Given the description of an element on the screen output the (x, y) to click on. 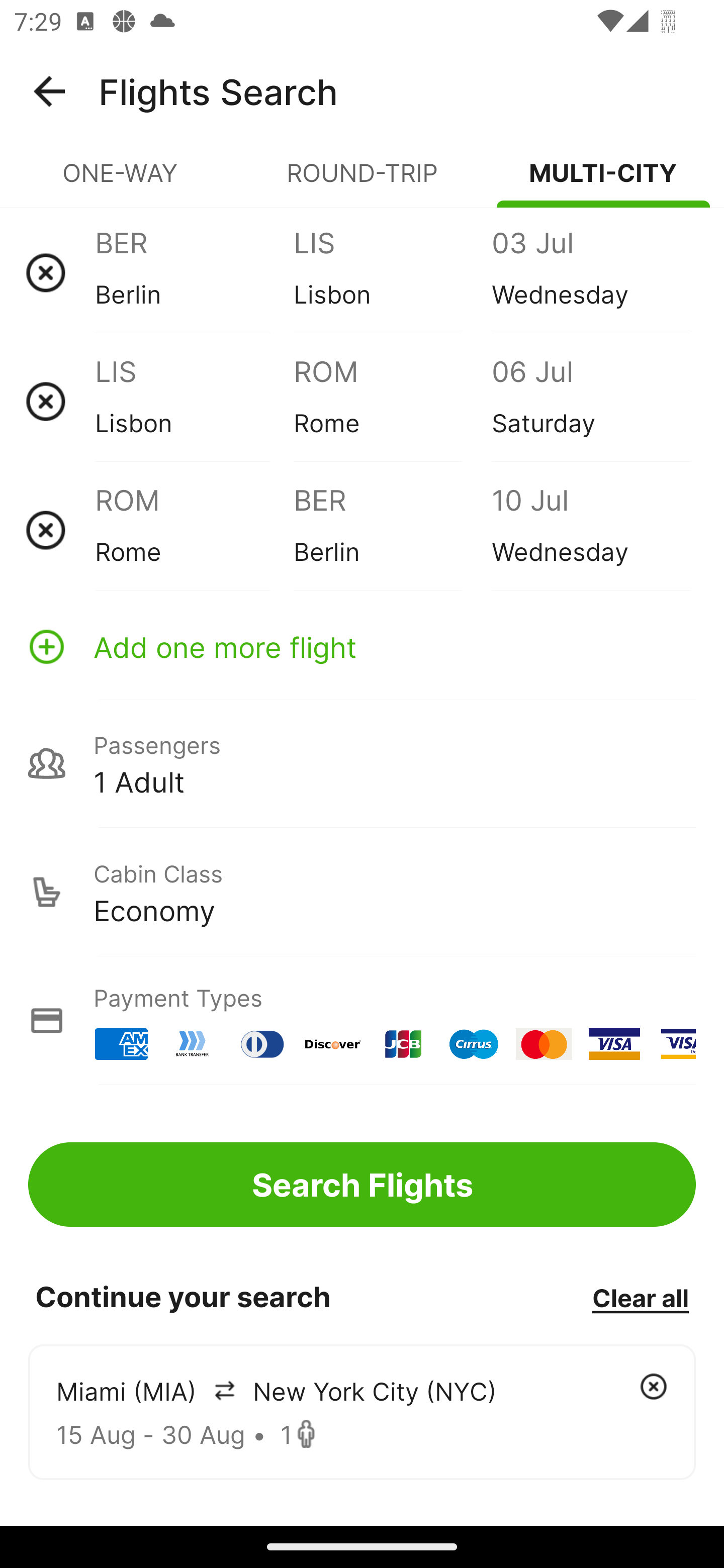
ONE-WAY (120, 180)
ROUND-TRIP (361, 180)
MULTI-CITY (603, 180)
BER Berlin (193, 272)
LIS Lisbon (392, 272)
03 Jul Wednesday (590, 272)
LIS Lisbon (193, 401)
ROM Rome (392, 401)
06 Jul Saturday (590, 401)
ROM Rome (193, 529)
BER Berlin (392, 529)
10 Jul Wednesday (590, 529)
Add one more flight (362, 646)
Passengers 1 Adult (362, 762)
Cabin Class Economy (362, 891)
Payment Types (362, 1020)
Search Flights (361, 1184)
Clear all (640, 1297)
